Given the description of an element on the screen output the (x, y) to click on. 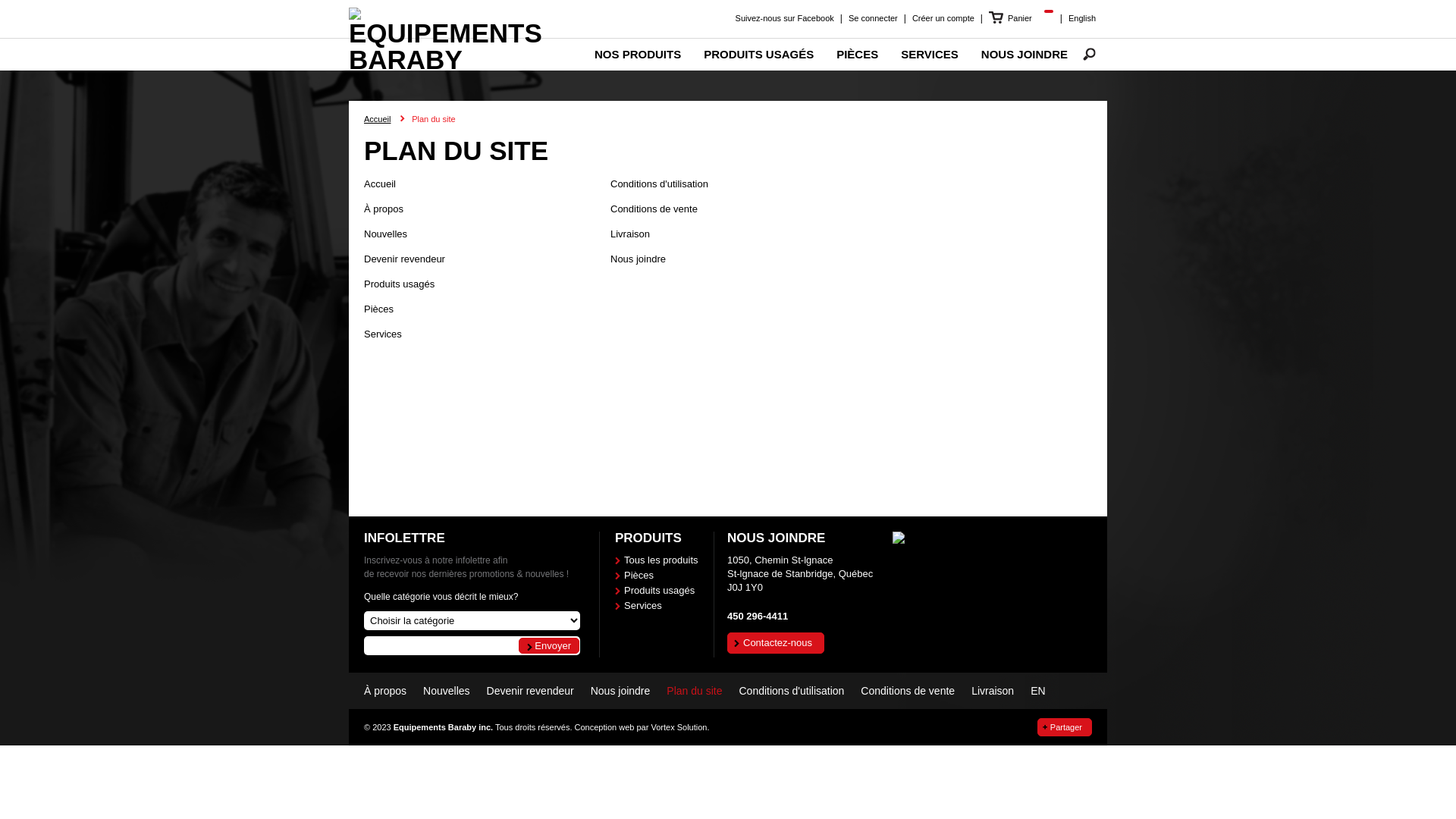
English Element type: text (1081, 17)
Courriel Element type: hover (472, 645)
Plan du site Element type: text (694, 690)
Nouvelles Element type: text (385, 232)
Accueil Element type: hover (445, 59)
Panier Element type: text (1021, 17)
Conditions d'utilisation Element type: text (659, 182)
Tous les produits Element type: text (656, 560)
SERVICES Element type: text (929, 54)
Services Element type: text (382, 332)
Partager Element type: text (1064, 727)
Devenir revendeur Element type: text (404, 258)
Accueil Element type: text (379, 182)
par Vortex Solution Element type: text (672, 726)
Livraison Element type: text (992, 690)
Conditions de vente Element type: text (653, 208)
Services Element type: text (656, 605)
Nous joindre Element type: text (620, 690)
NOUS JOINDRE Element type: text (1024, 54)
Se connecter Element type: text (872, 17)
Conditions d'utilisation Element type: text (791, 690)
Contactez-nous Element type: text (775, 642)
Livraison Element type: text (629, 232)
Envoyer Element type: text (548, 645)
Nouvelles Element type: text (445, 690)
Suivez-nous sur Facebook Element type: text (784, 17)
NOS PRODUITS Element type: text (637, 54)
Conditions de vente Element type: text (907, 690)
Nous joindre Element type: text (637, 258)
Accueil Element type: text (377, 118)
Conception web Element type: text (604, 726)
EN Element type: text (1037, 690)
Devenir revendeur Element type: text (530, 690)
